Given the description of an element on the screen output the (x, y) to click on. 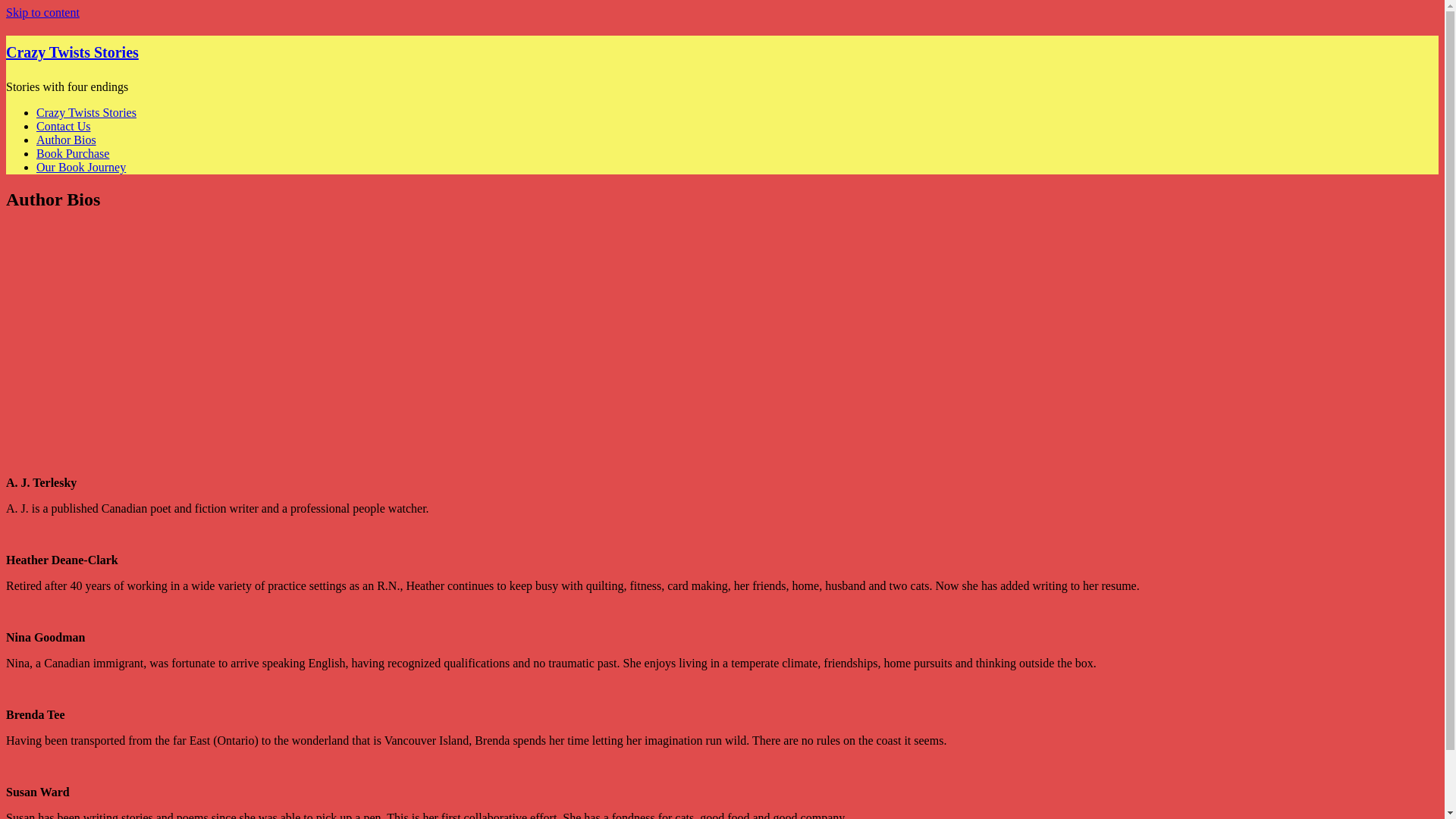
Crazy Twists Stories (71, 52)
Contact Us (63, 125)
Book Purchase (72, 153)
Skip to content (42, 11)
Our Book Journey (80, 166)
Crazy Twists Stories (86, 112)
Author Bios (66, 139)
